Given the description of an element on the screen output the (x, y) to click on. 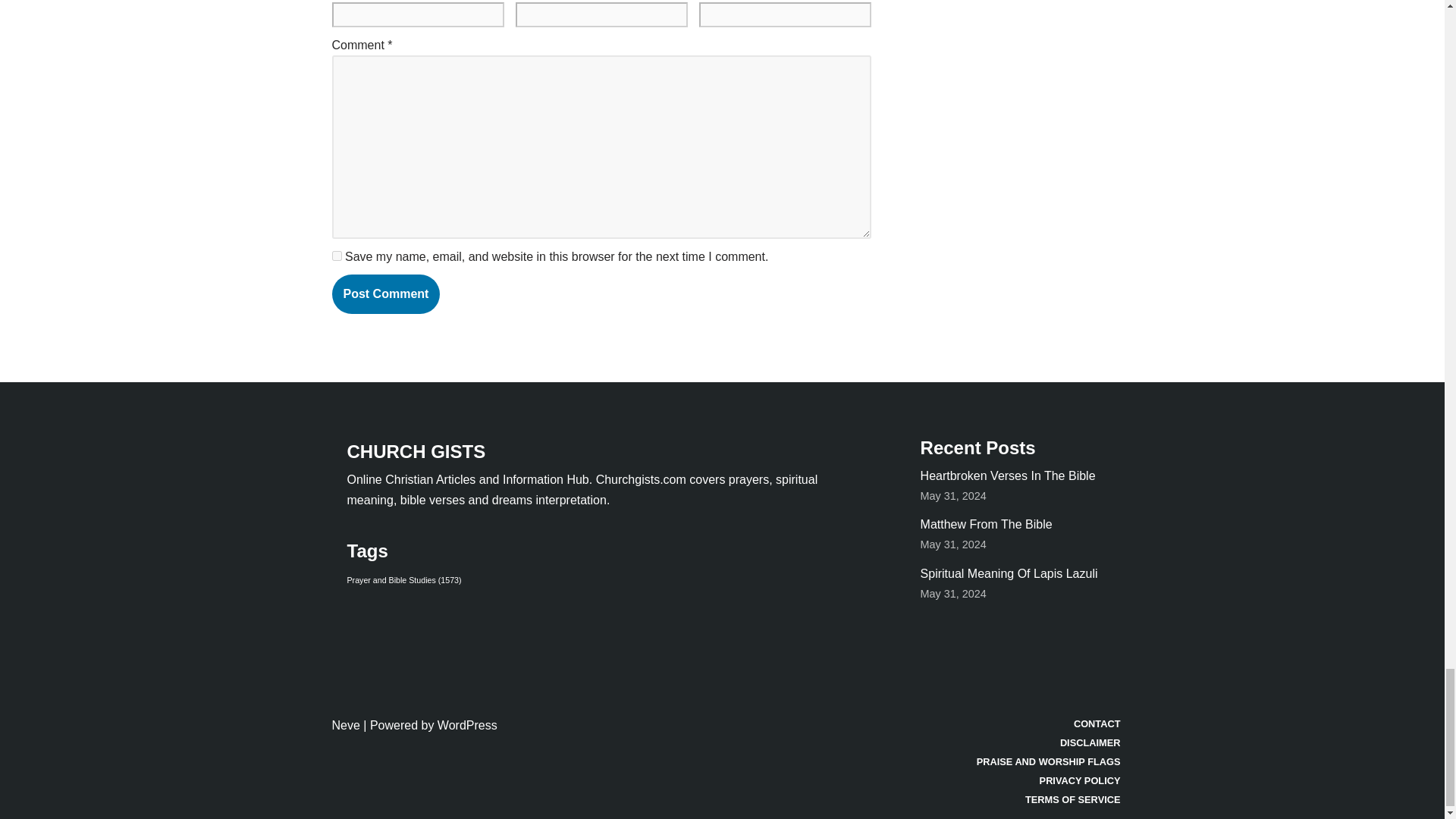
Heartbroken Verses In The Bible (1008, 475)
Matthew From The Bible (986, 523)
Post Comment (386, 293)
yes (336, 255)
WordPress (467, 725)
Spiritual Meaning Of Lapis Lazuli (1008, 573)
Post Comment (386, 293)
Neve (345, 725)
CONTACT (1048, 723)
